Given the description of an element on the screen output the (x, y) to click on. 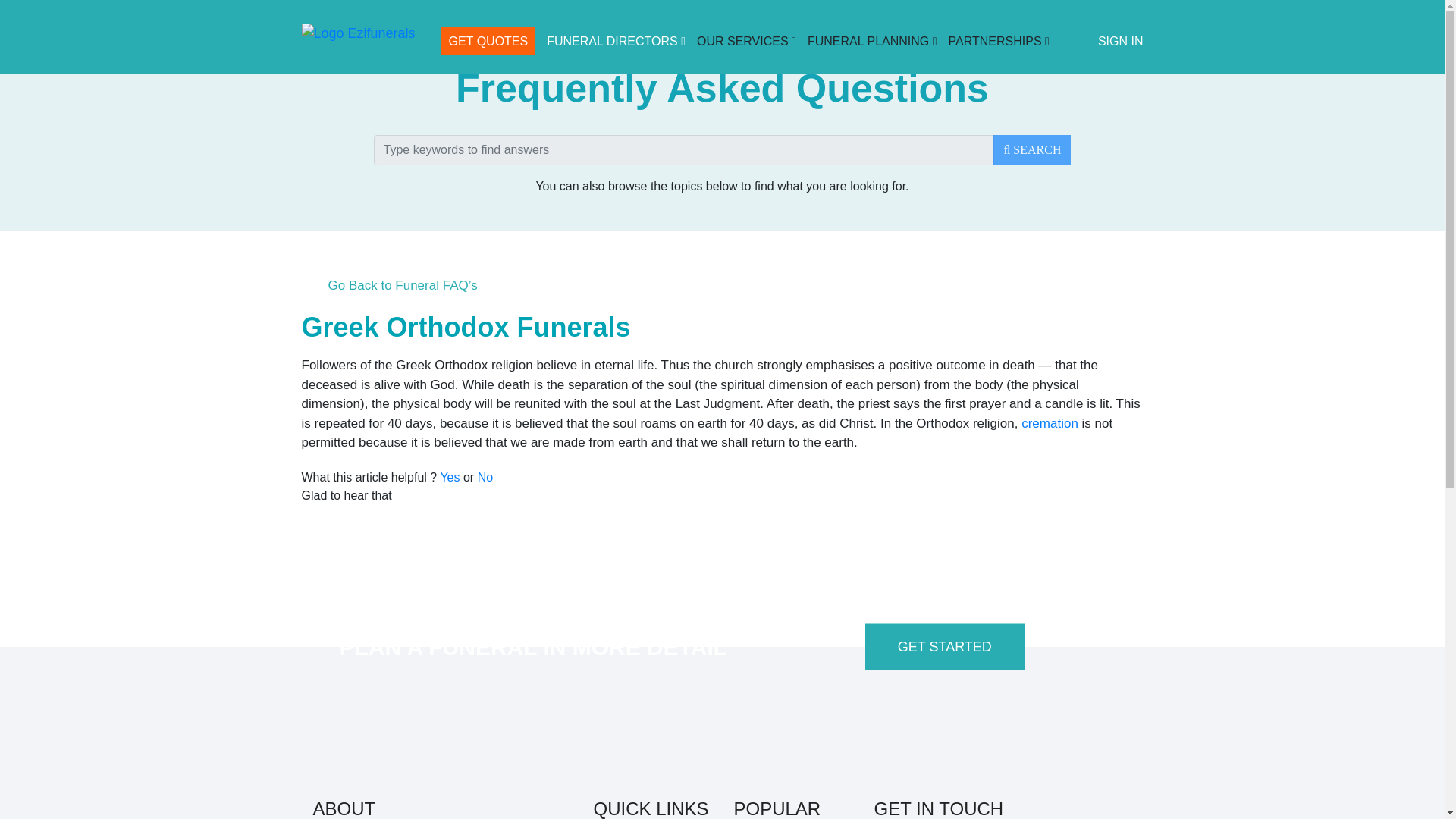
FUNERAL PLANNING (872, 41)
OUR SERVICES (746, 41)
GET QUOTES (488, 41)
cremation (1050, 423)
FUNERAL DIRECTORS (616, 41)
PARTNERSHIPS (999, 41)
Search for: (683, 150)
